Given the description of an element on the screen output the (x, y) to click on. 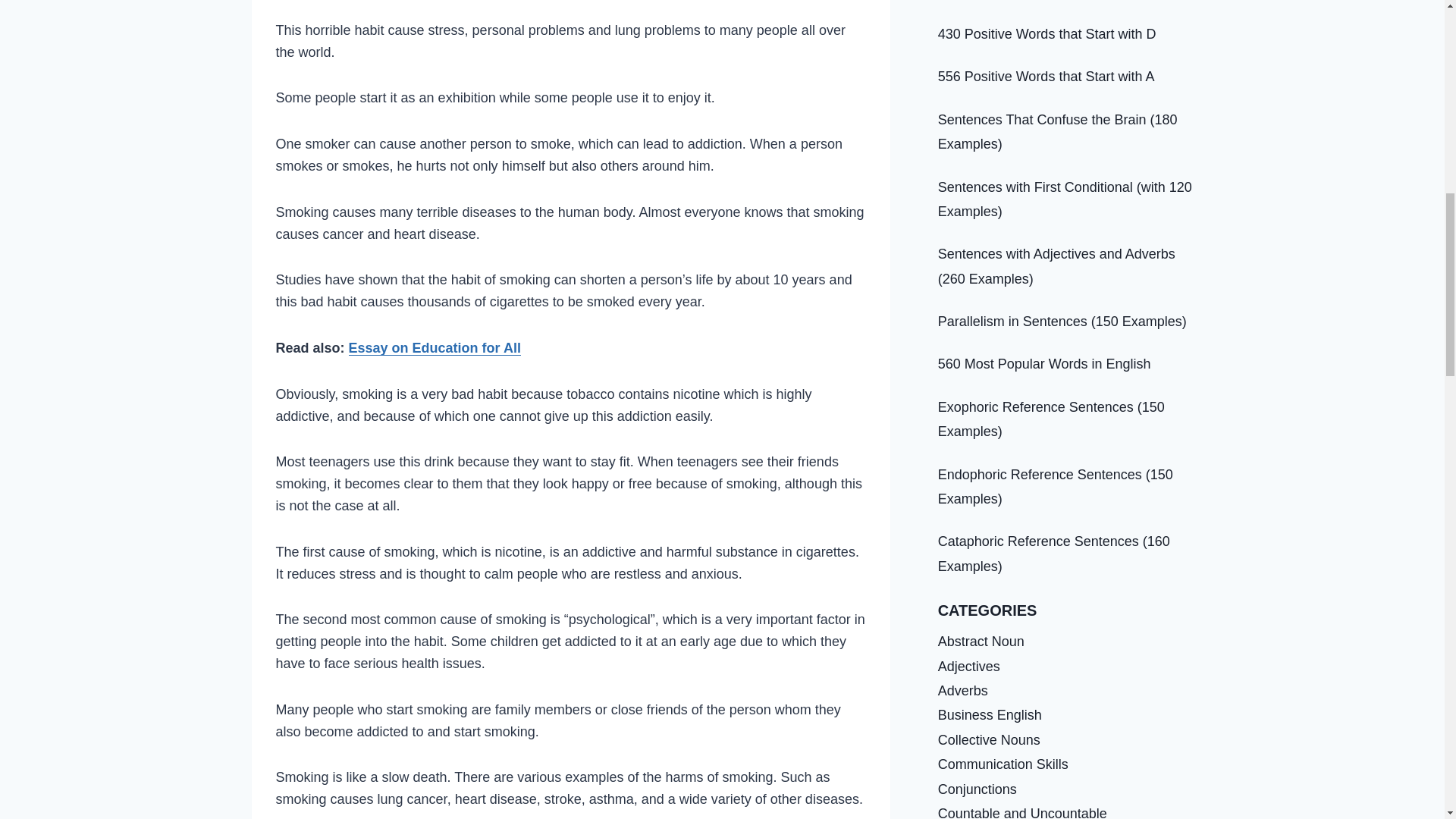
Essay on Education for All (435, 347)
